Given the description of an element on the screen output the (x, y) to click on. 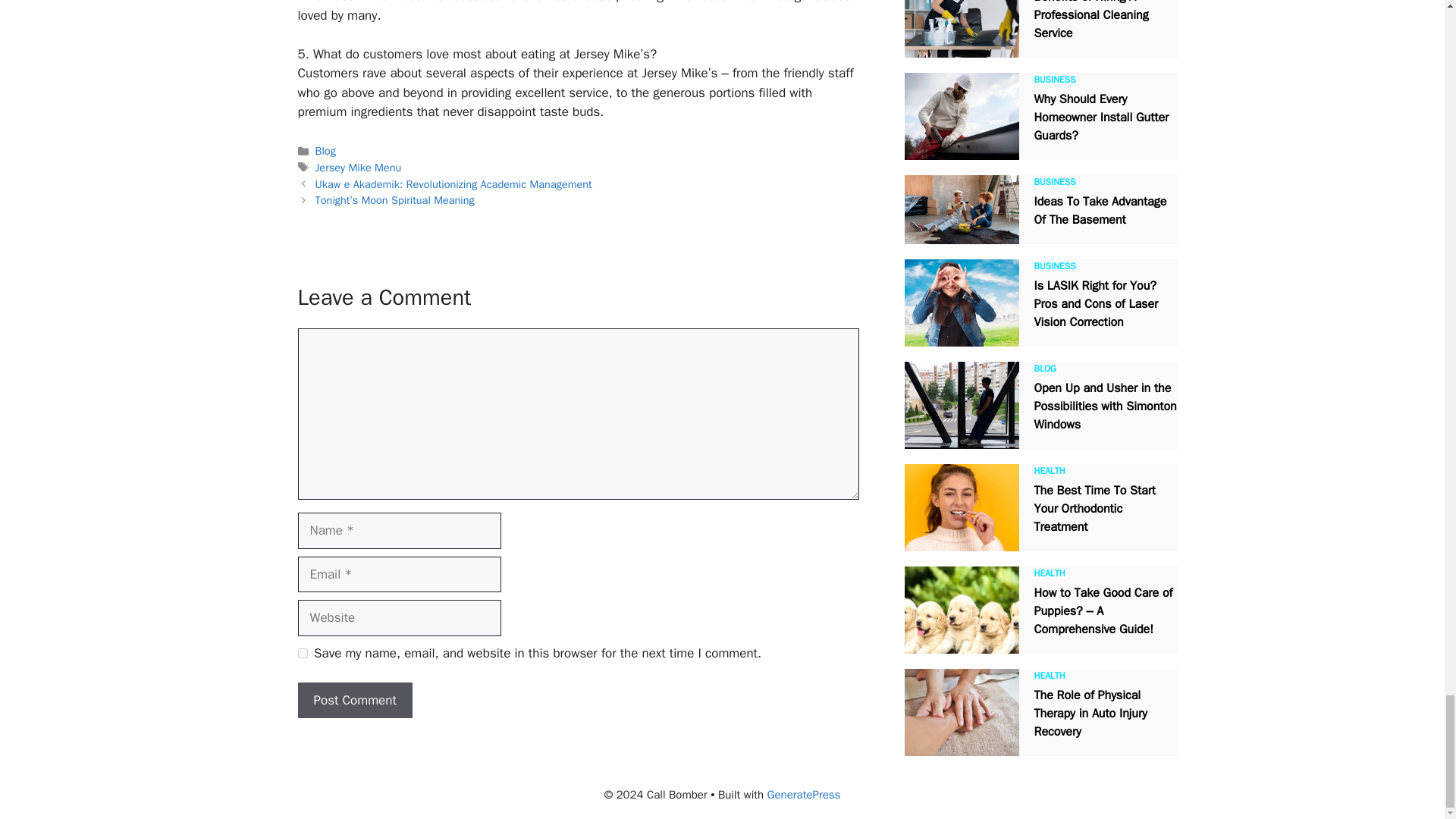
Post Comment (354, 700)
Post Comment (354, 700)
yes (302, 653)
Blog (325, 151)
Ukaw e Akademik: Revolutionizing Academic Management (453, 183)
Jersey Mike Menu (358, 167)
